Given the description of an element on the screen output the (x, y) to click on. 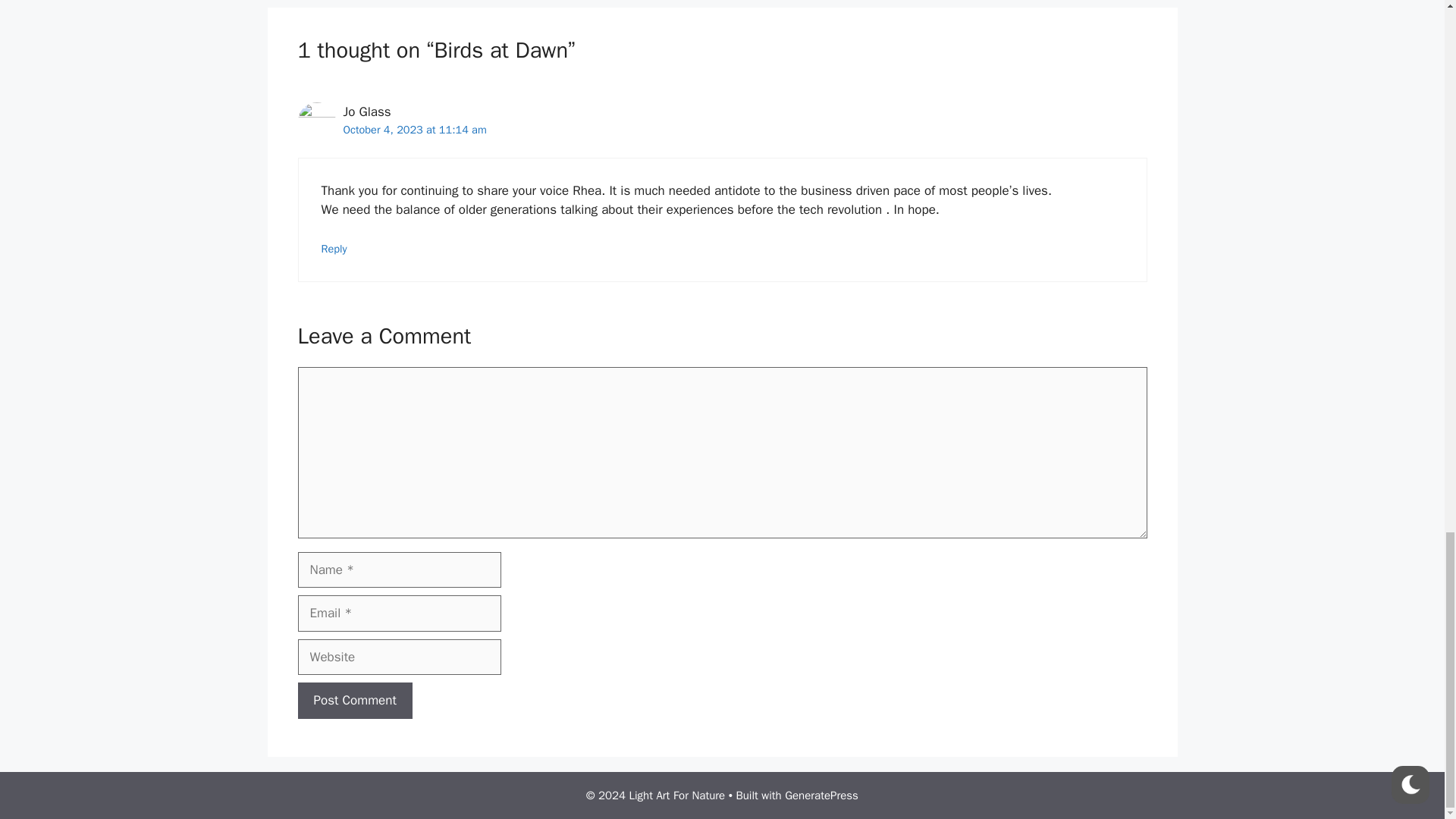
Post Comment (354, 700)
GeneratePress (821, 795)
Reply (334, 248)
October 4, 2023 at 11:14 am (414, 129)
Post Comment (354, 700)
